Given the description of an element on the screen output the (x, y) to click on. 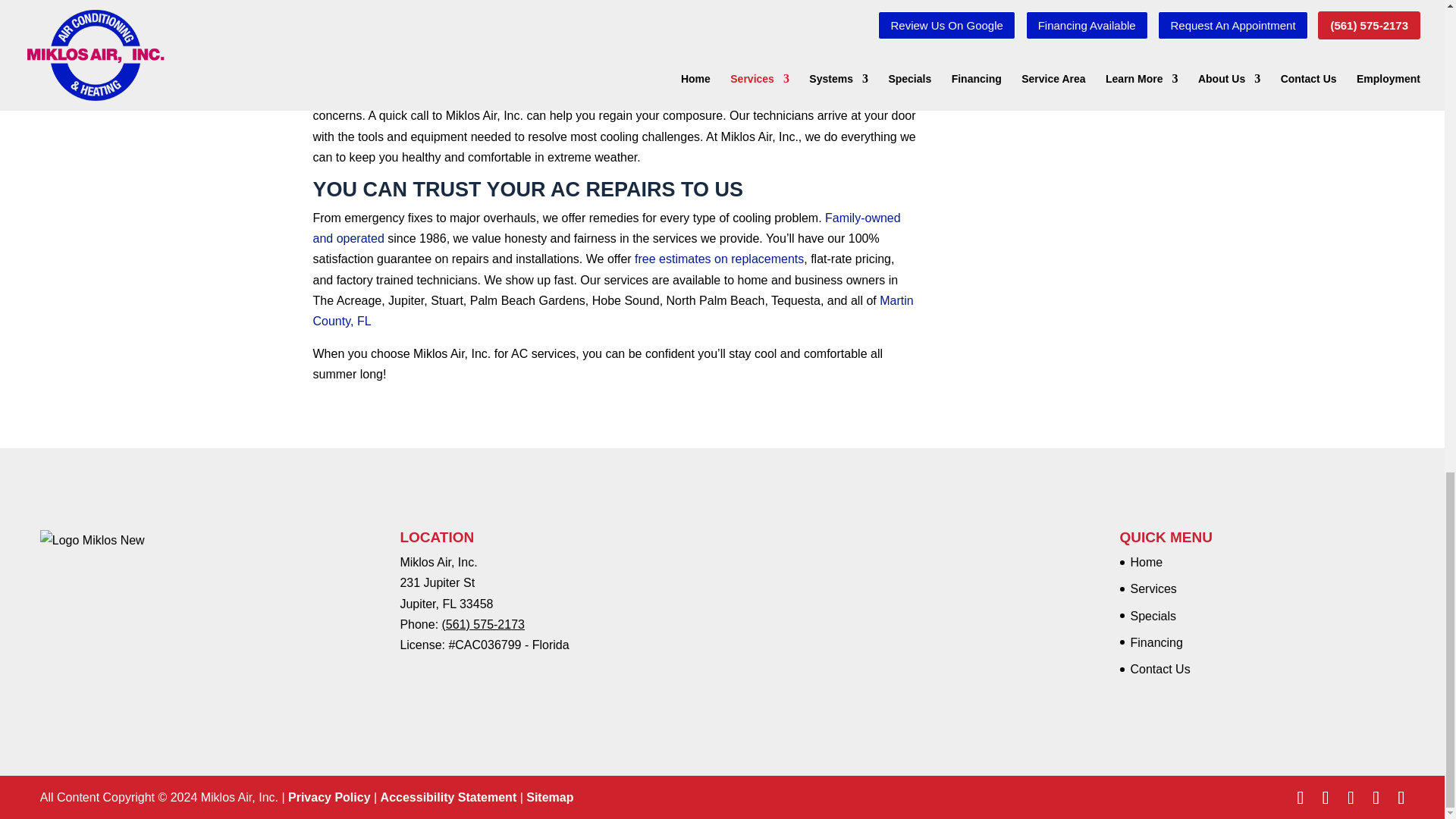
Family-owned and operated (606, 227)
free estimates on replacements (718, 258)
Martin County, FL (612, 310)
